Given the description of an element on the screen output the (x, y) to click on. 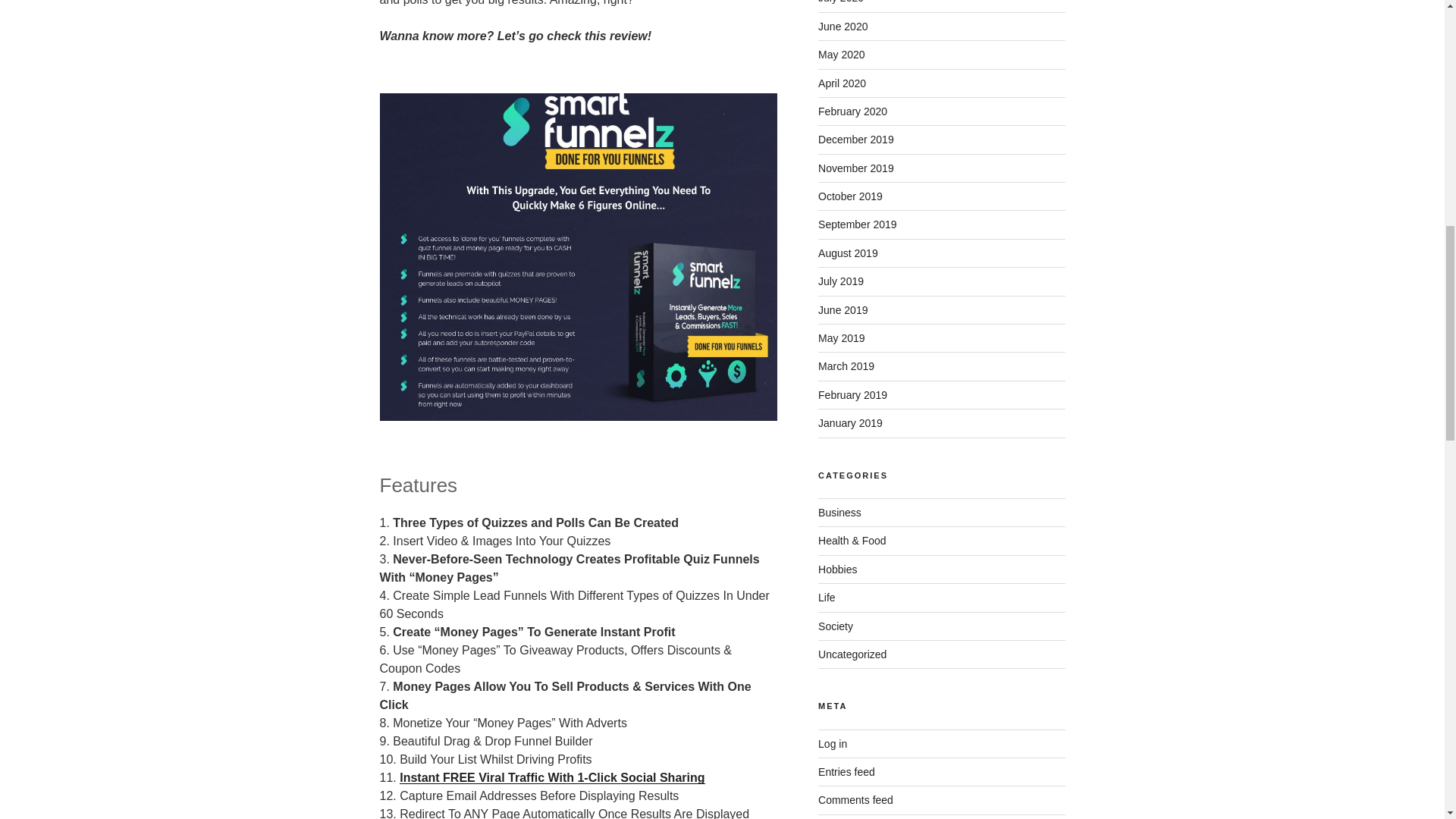
November 2019 (855, 168)
February 2019 (852, 395)
December 2019 (855, 139)
Instant FREE Viral Traffic With 1-Click Social Sharing (551, 777)
May 2019 (841, 337)
August 2019 (847, 253)
September 2019 (857, 224)
June 2019 (842, 309)
January 2019 (850, 422)
Business (839, 512)
